Given the description of an element on the screen output the (x, y) to click on. 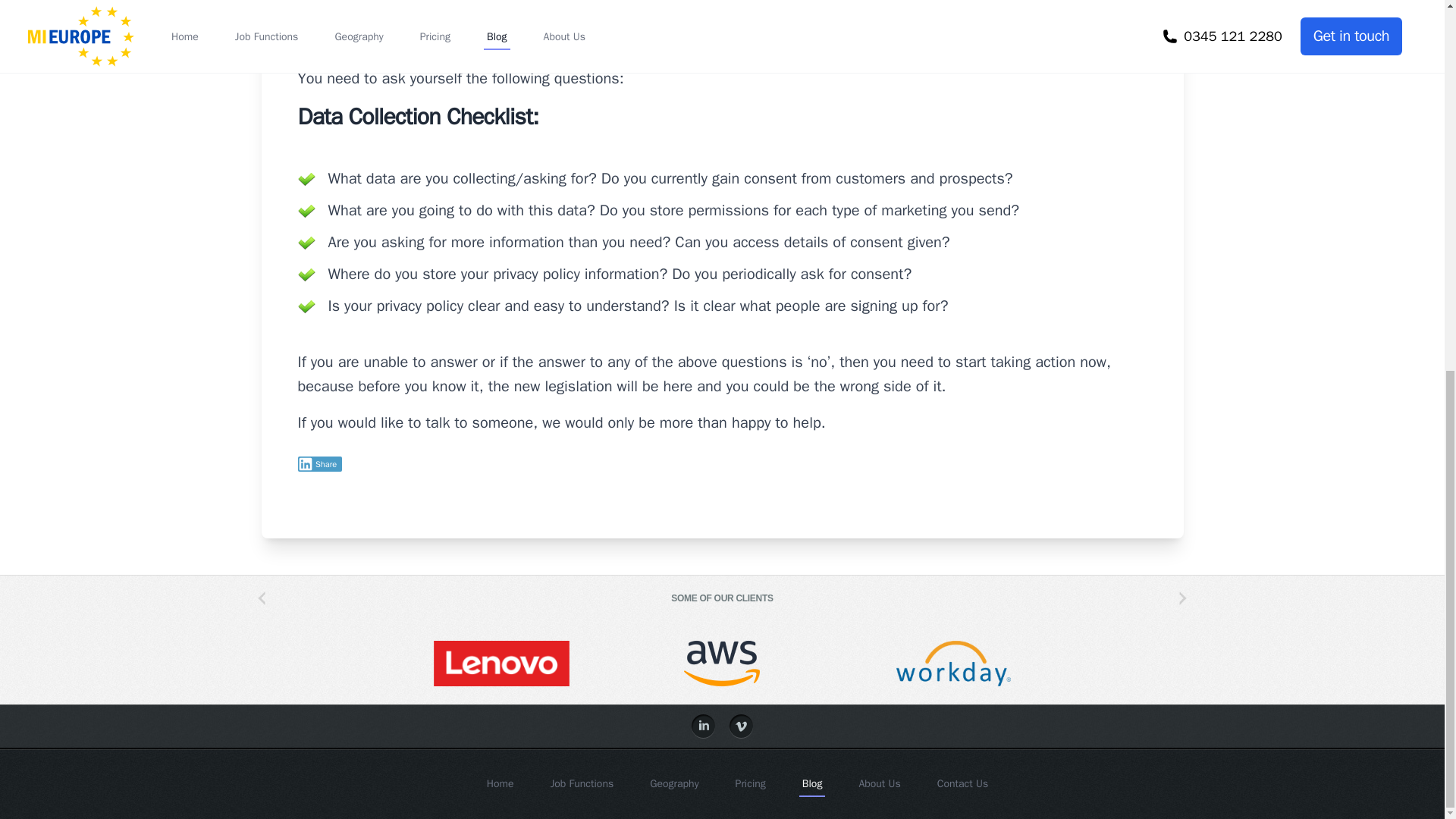
Blog (812, 782)
Geography (673, 782)
About Us (879, 782)
Job Functions (582, 782)
Share (319, 463)
Pricing (750, 782)
Contact Us (962, 782)
Home (499, 782)
